Given the description of an element on the screen output the (x, y) to click on. 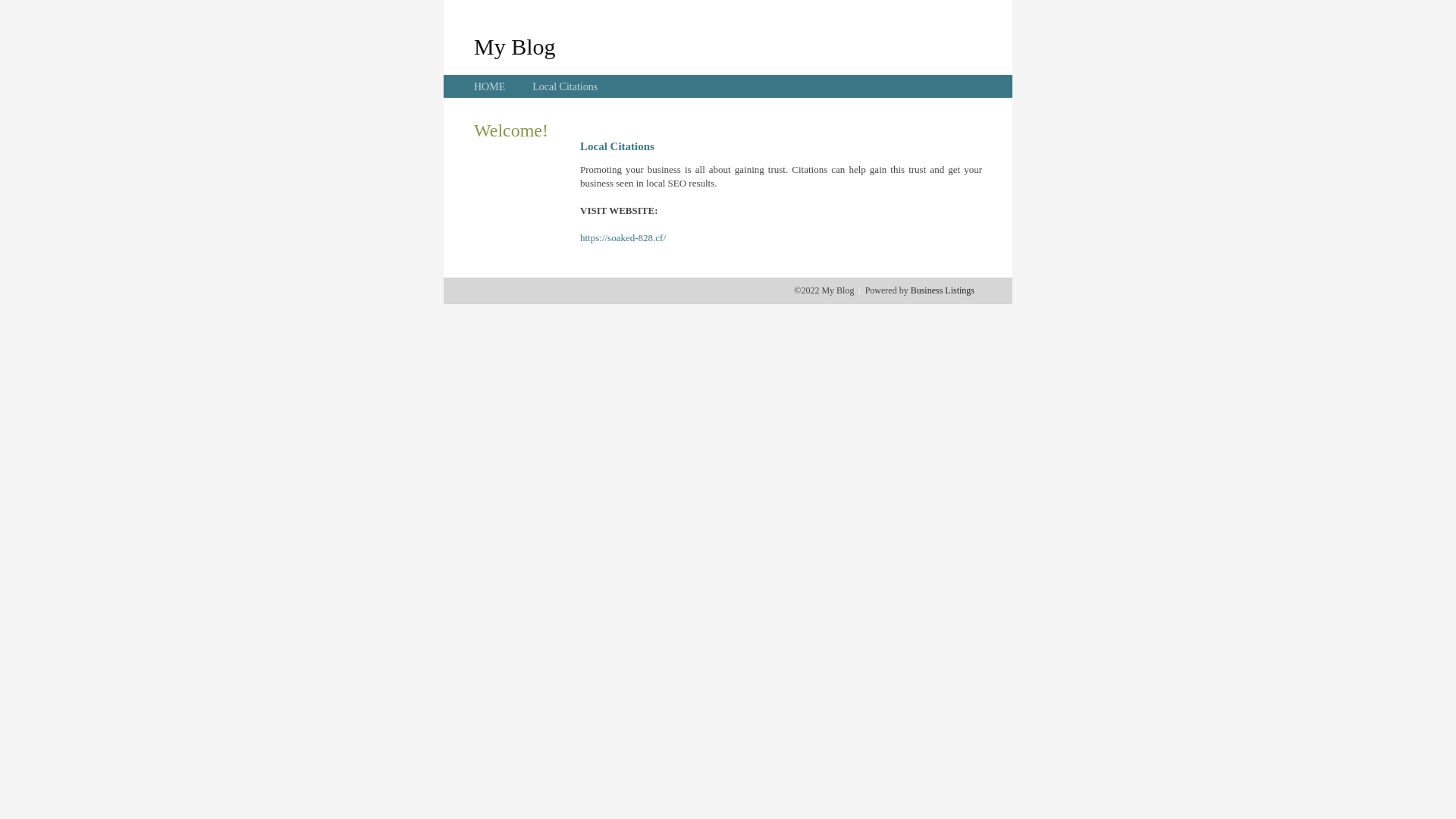
My Blog Element type: text (514, 46)
https://soaked-828.cf/ Element type: text (622, 237)
Local Citations Element type: text (564, 86)
Business Listings Element type: text (942, 290)
HOME Element type: text (489, 86)
